Given the description of an element on the screen output the (x, y) to click on. 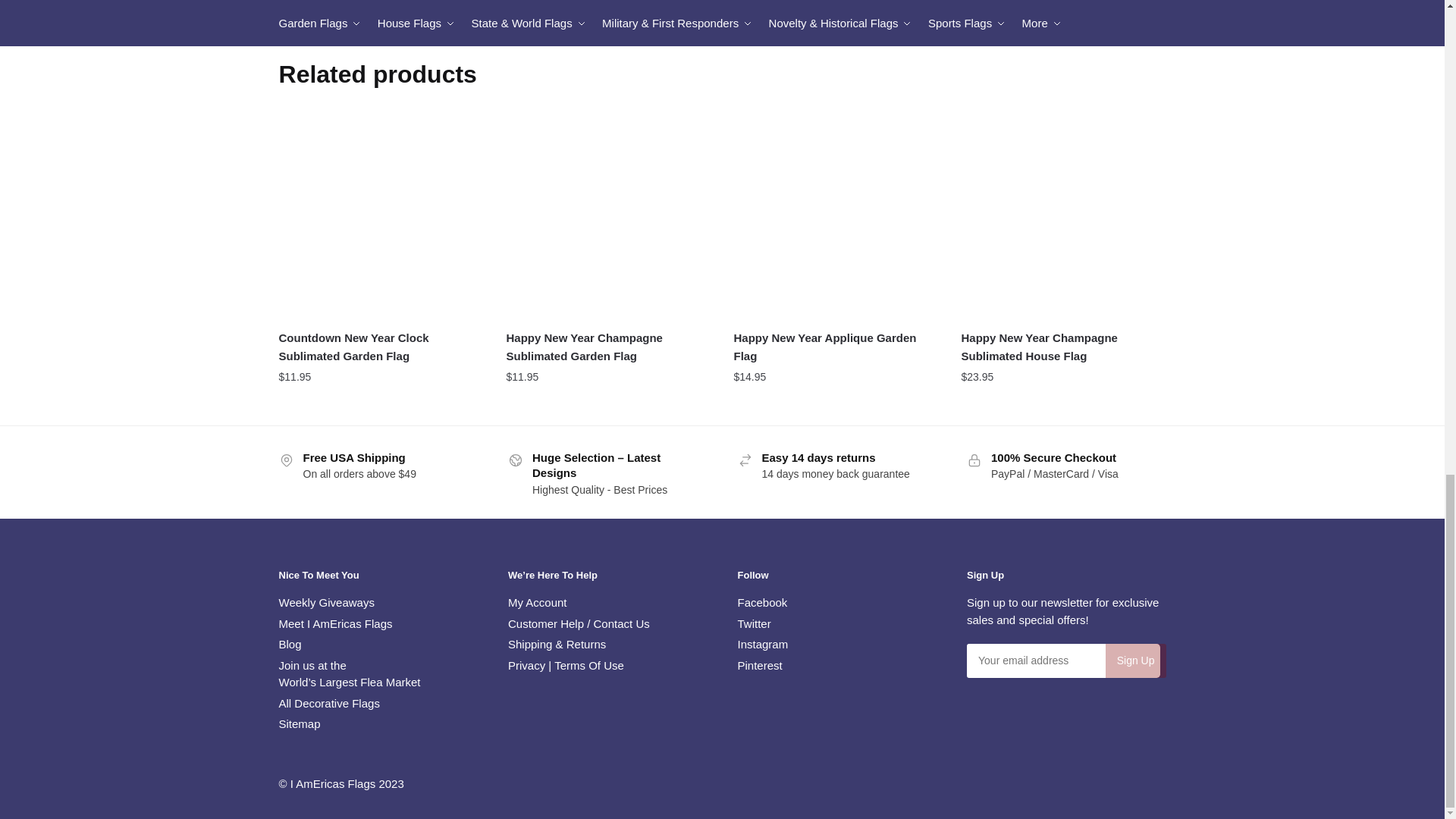
Happy New Year Champagne Sublimated Garden Flag (608, 215)
Countdown New Year Clock Sublimated Garden Flag (381, 215)
Sign up (1135, 660)
